Given the description of an element on the screen output the (x, y) to click on. 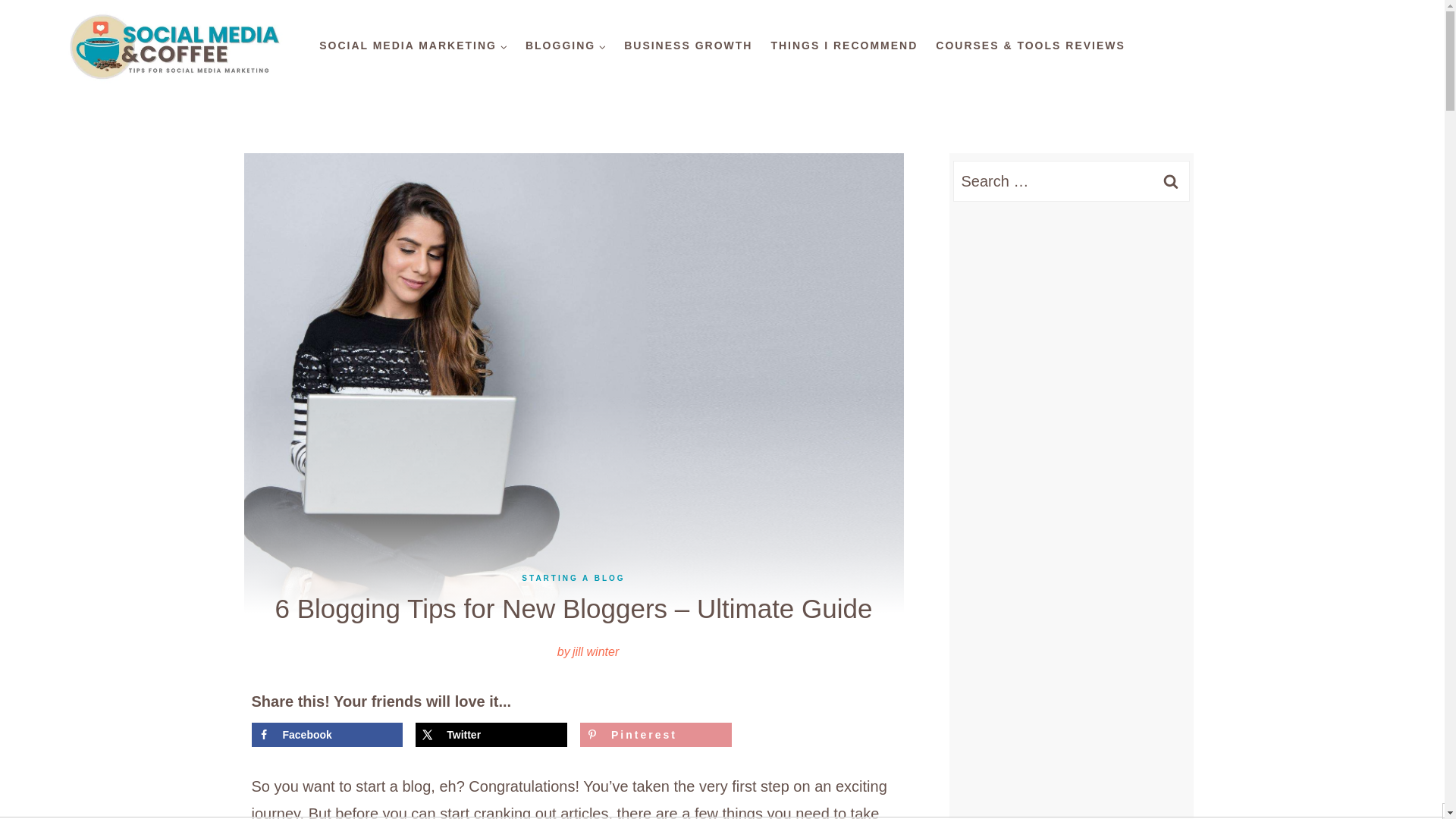
Search (1170, 180)
Facebook (327, 734)
Share on Facebook (327, 734)
BUSINESS GROWTH (687, 45)
Share on X (490, 734)
BLOGGING (565, 45)
Twitter (490, 734)
STARTING A BLOG (572, 578)
SOCIAL MEDIA MARKETING (413, 45)
Pinterest (655, 734)
Search (1170, 180)
Save to Pinterest (655, 734)
THINGS I RECOMMEND (843, 45)
jill winter (595, 651)
